Given the description of an element on the screen output the (x, y) to click on. 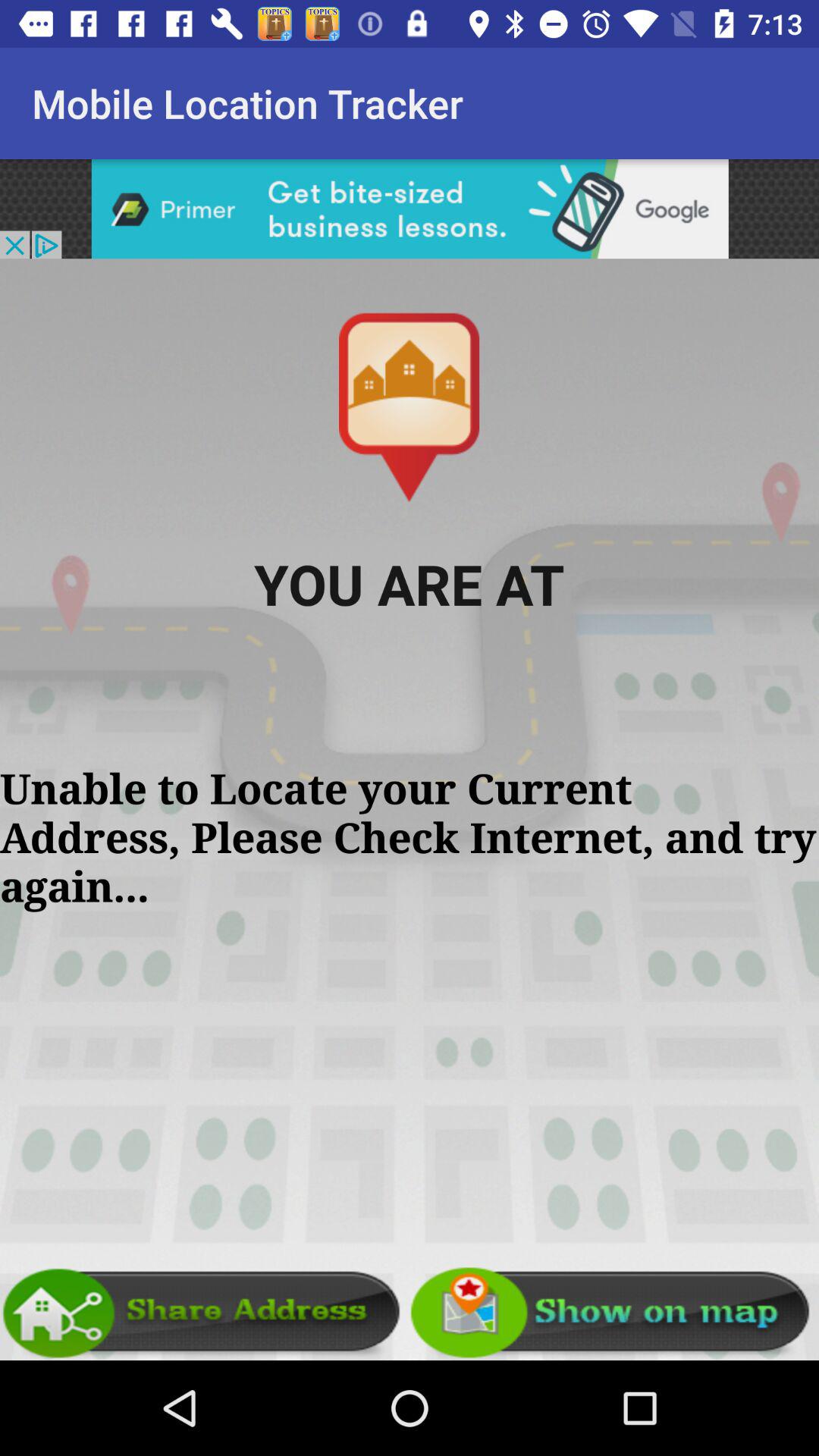
show map (614, 1312)
